Given the description of an element on the screen output the (x, y) to click on. 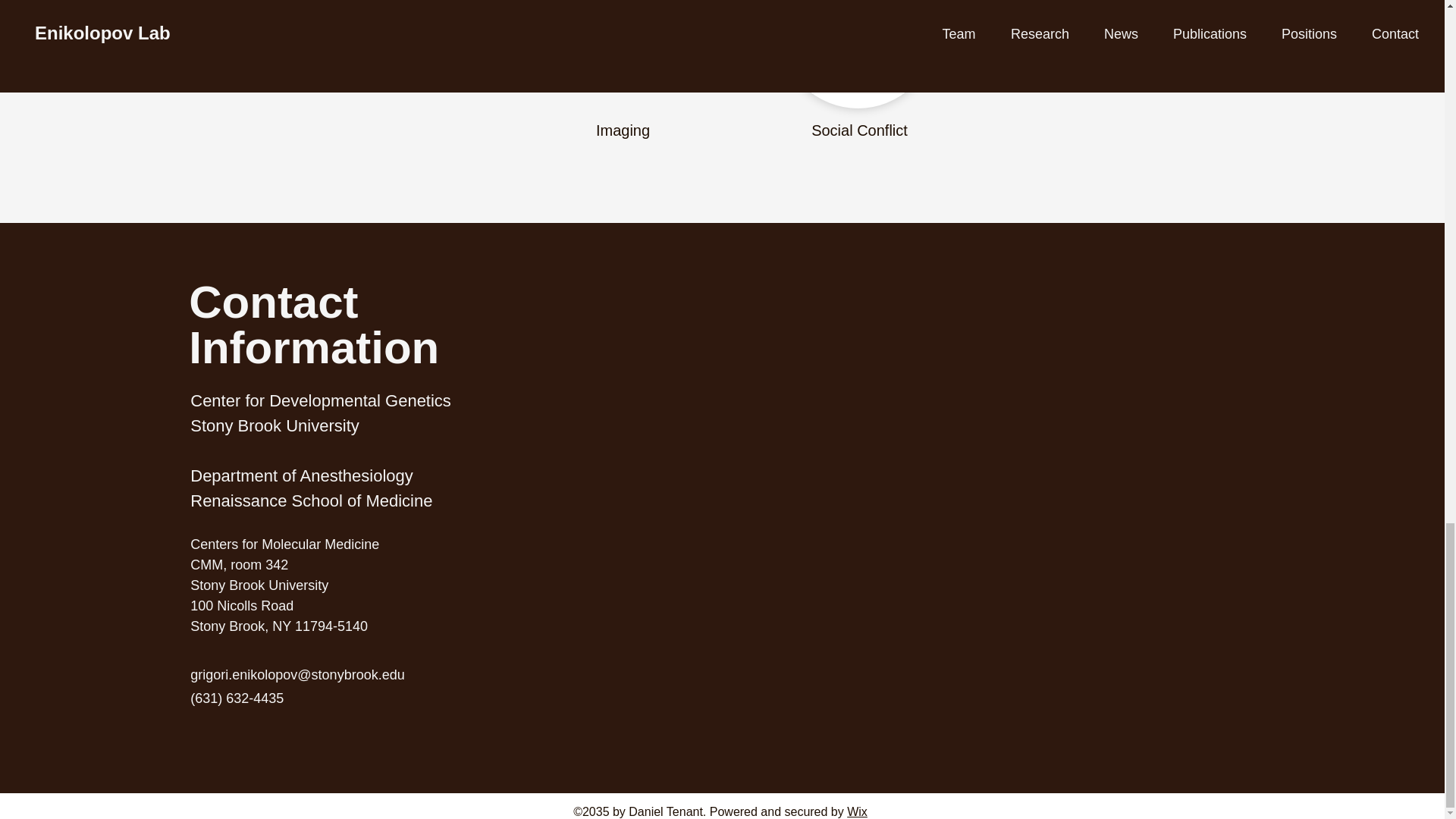
Social Conflict (858, 130)
Wix (857, 811)
Imaging (622, 130)
